Given the description of an element on the screen output the (x, y) to click on. 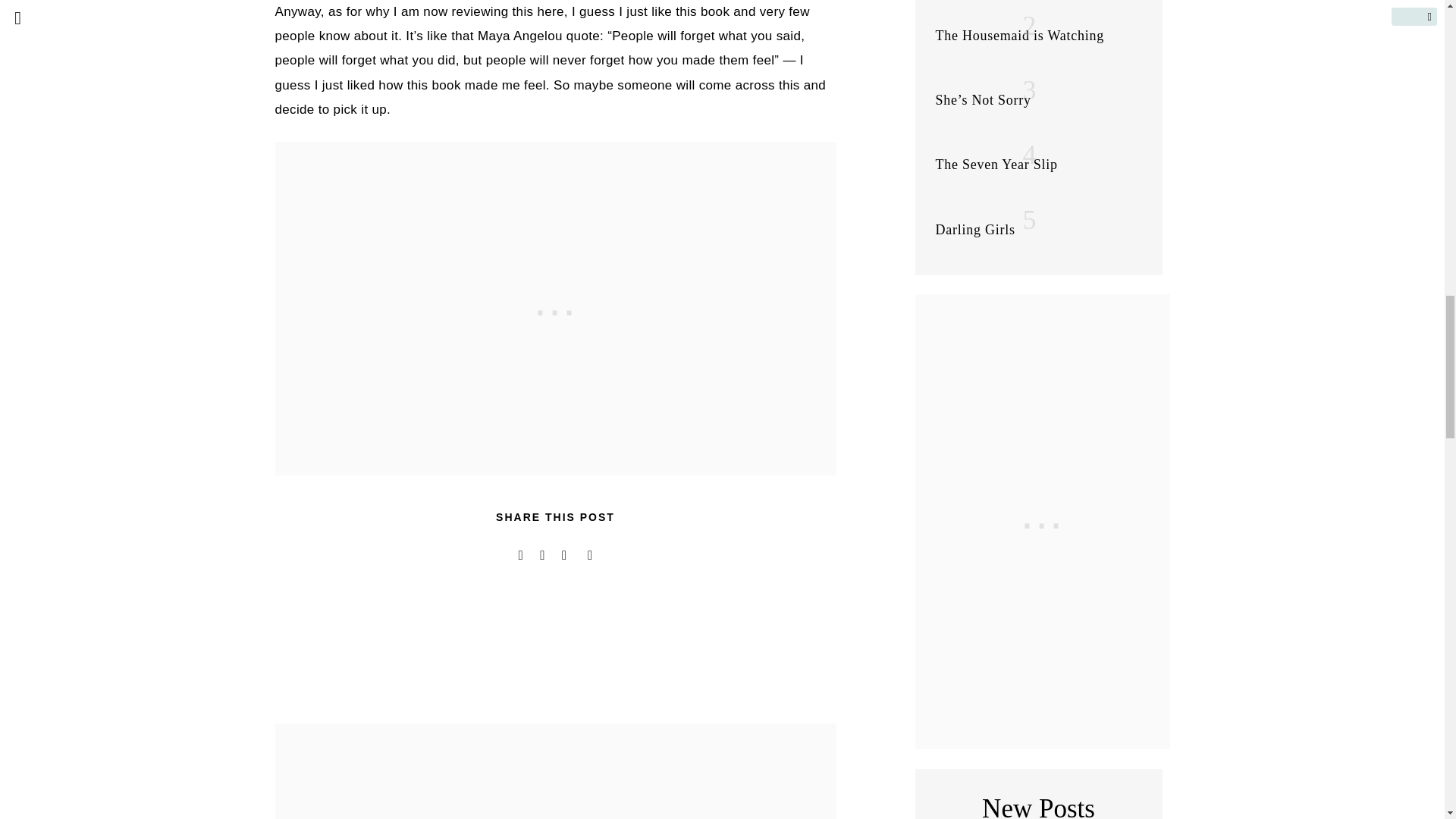
Tweet This (520, 554)
The Housemaid is Watching (1019, 35)
Darling Girls (975, 229)
The Seven Year Slip (997, 164)
